Given the description of an element on the screen output the (x, y) to click on. 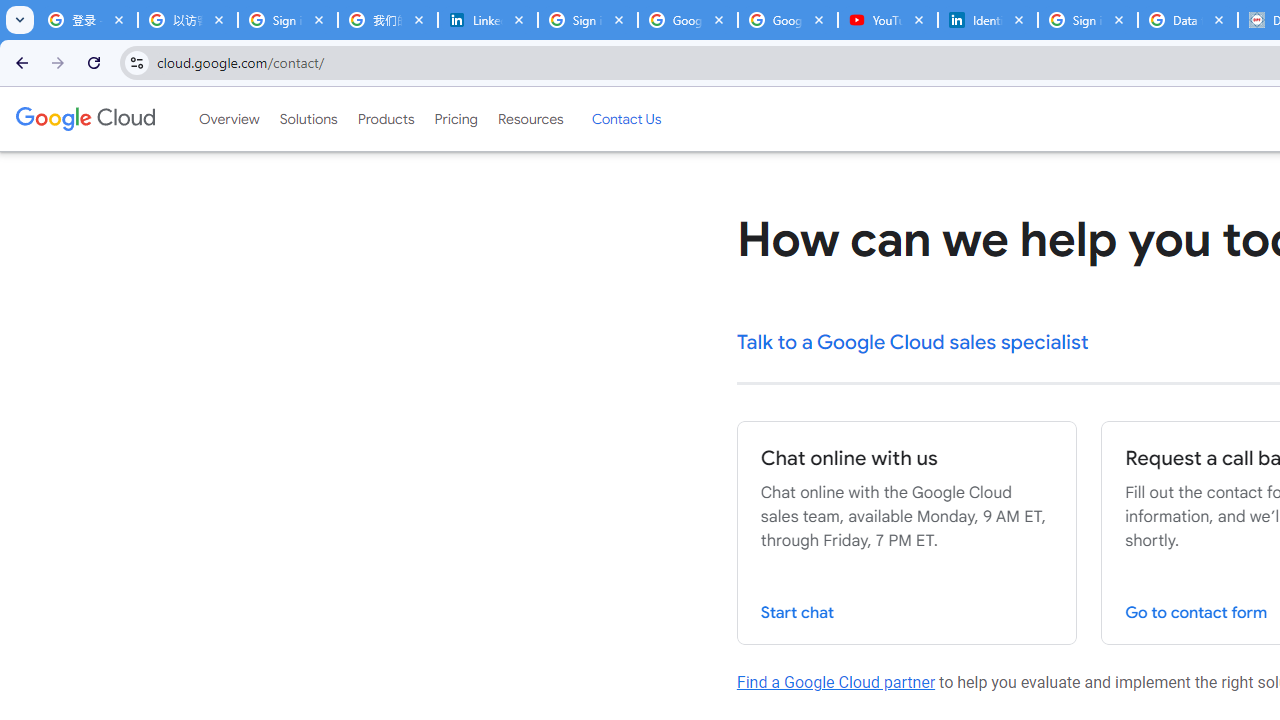
Contact Us (626, 119)
Pricing (455, 119)
Solutions (308, 119)
Resources (530, 119)
Sign in - Google Accounts (587, 20)
Google Cloud (84, 118)
Products (385, 119)
Sign in - Google Accounts (287, 20)
